Given the description of an element on the screen output the (x, y) to click on. 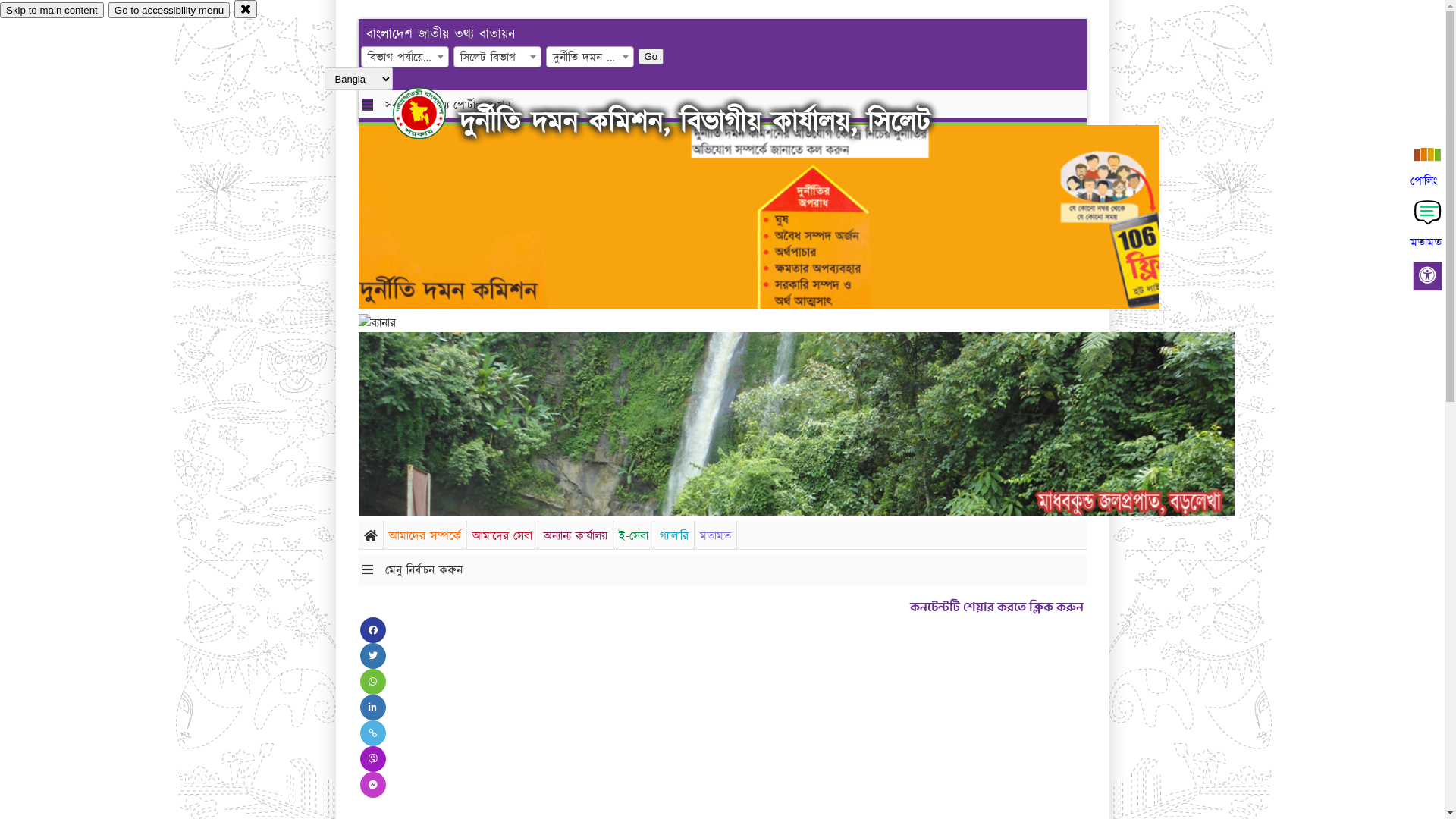
Go Element type: text (651, 56)
Go to accessibility menu Element type: text (168, 10)
close Element type: hover (245, 9)

                
             Element type: hover (431, 112)
Skip to main content Element type: text (51, 10)
